Given the description of an element on the screen output the (x, y) to click on. 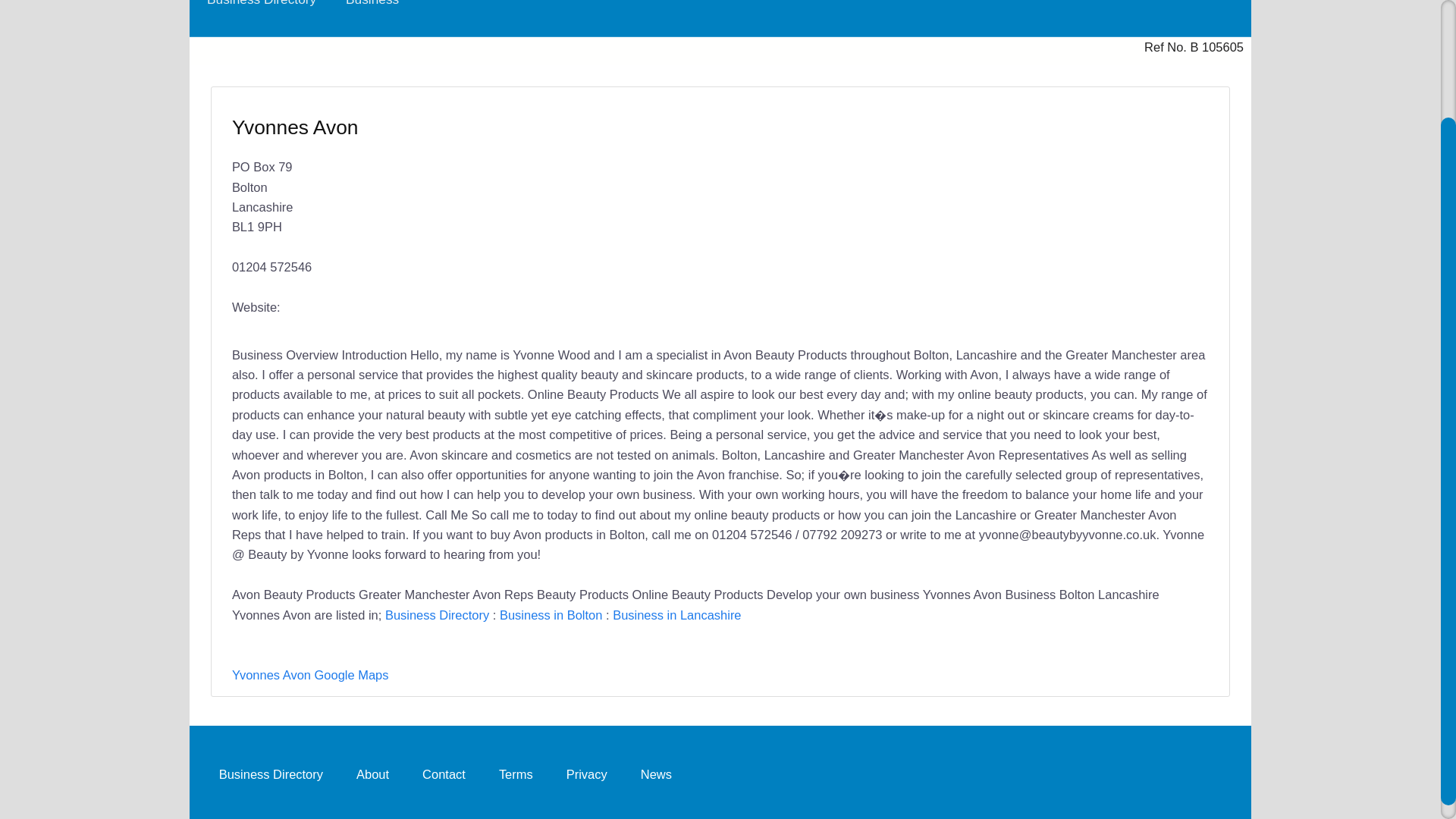
Advertisement (956, 204)
Yvonnes Avon Google Maps (309, 674)
Business Directory (437, 614)
Business Directory (270, 773)
Business (371, 11)
Privacy (586, 773)
News (656, 773)
Business Directory (261, 11)
About (372, 773)
Contact (444, 773)
